Given the description of an element on the screen output the (x, y) to click on. 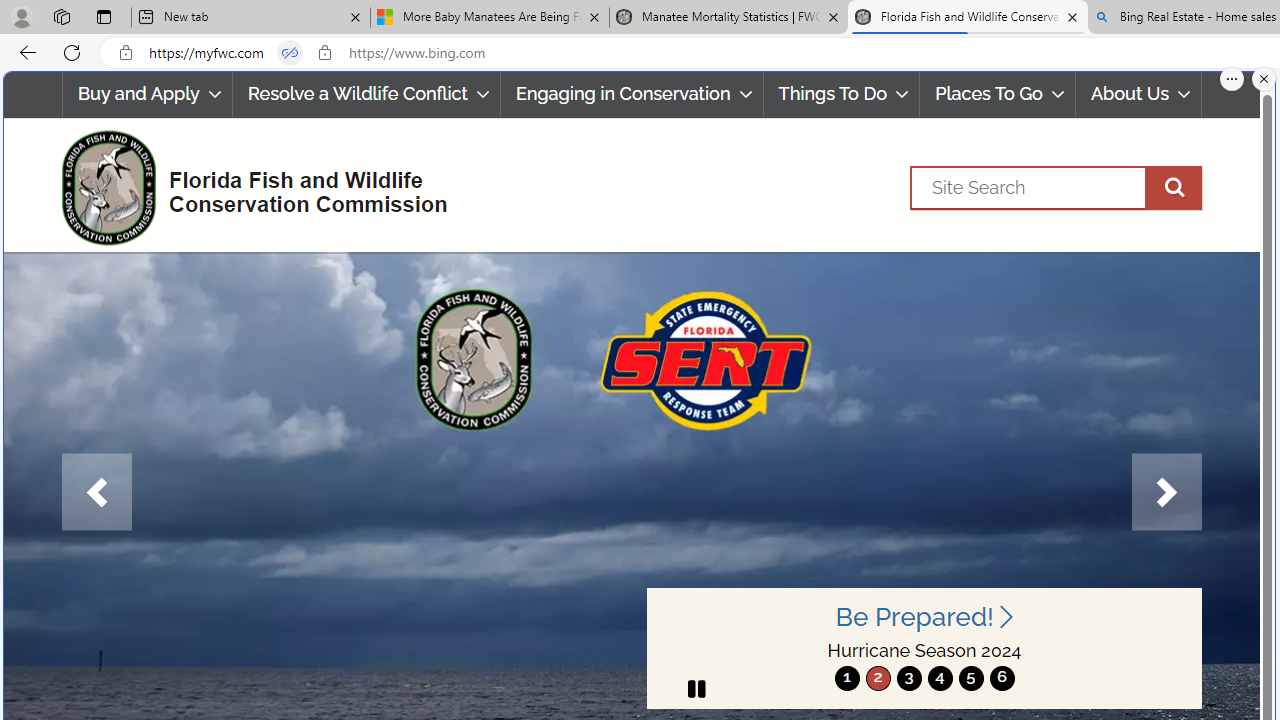
slider pause button (696, 688)
3 (908, 678)
move to slide 5 (970, 678)
move to slide 4 (939, 678)
6 (1002, 678)
move to slide 6 (1002, 678)
move to slide 1 (847, 678)
Buy and Apply (146, 94)
move to slide 2 (877, 678)
Search (1055, 187)
Things To Do (841, 94)
Places To Go (997, 94)
About Us (1139, 94)
Florida Fish and Wildlife Conservation Commission | FWC (967, 17)
